Given the description of an element on the screen output the (x, y) to click on. 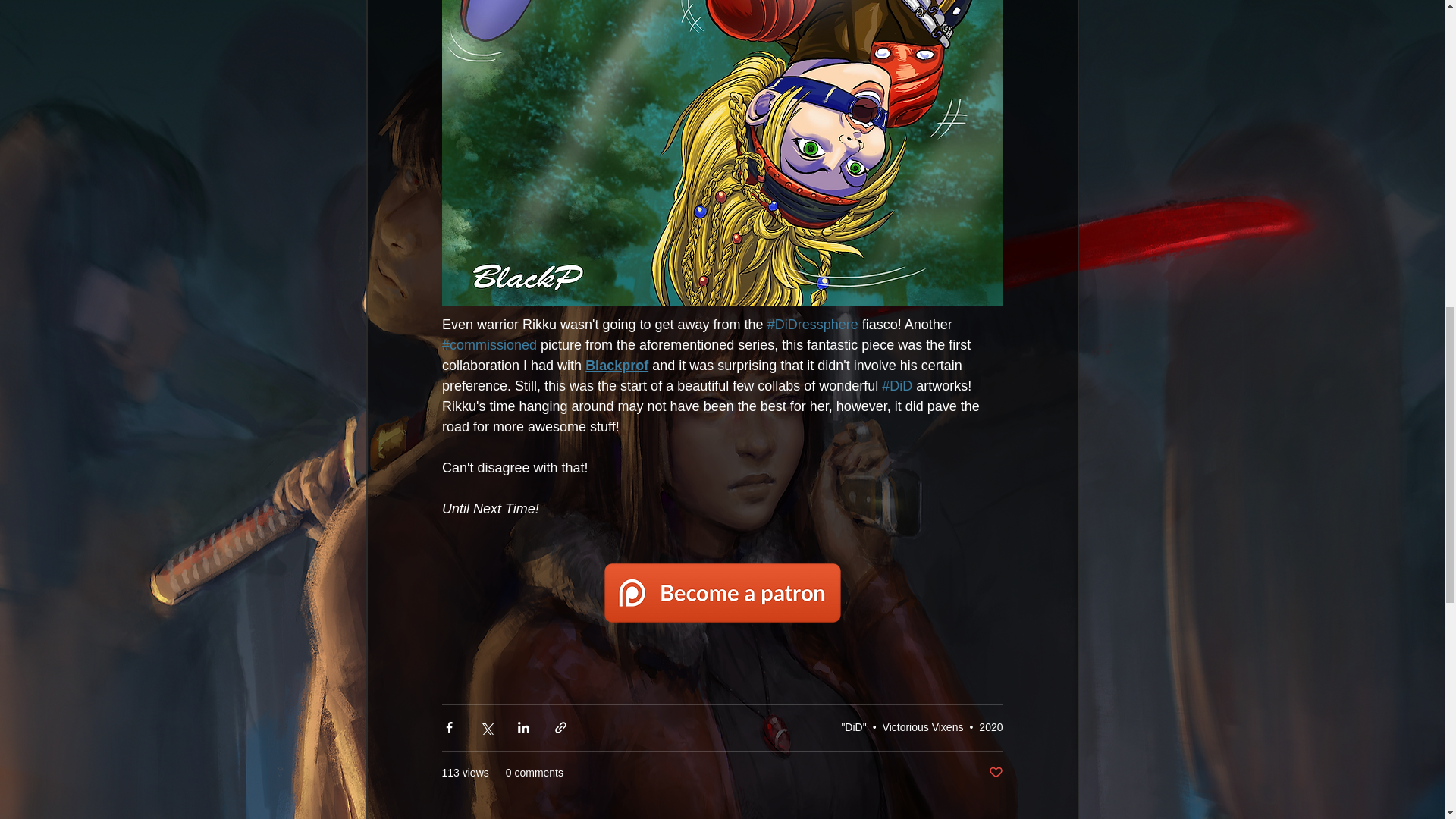
Blackprof (616, 365)
